Given the description of an element on the screen output the (x, y) to click on. 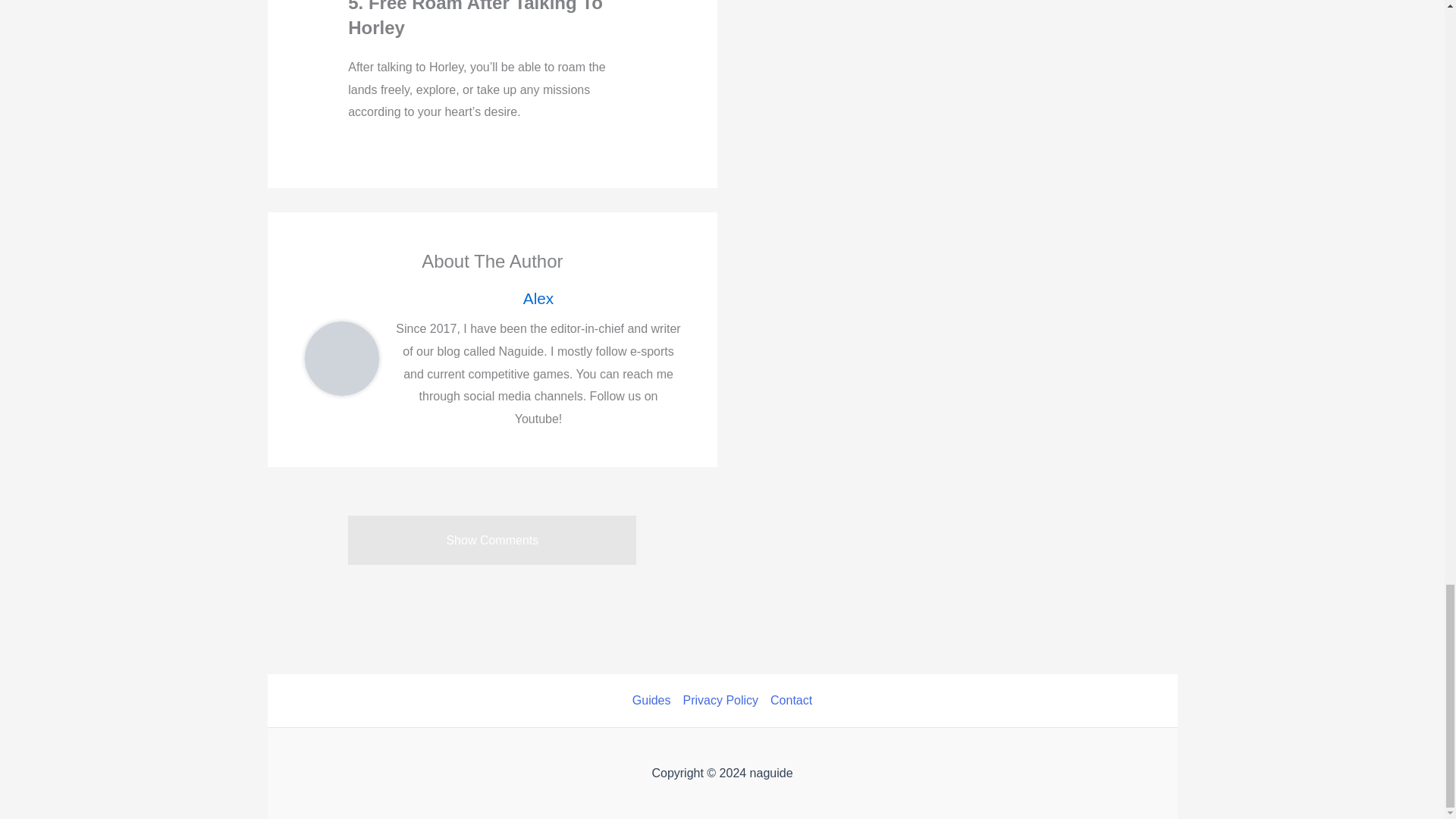
Privacy Policy (720, 700)
Guides (654, 700)
Contact (788, 700)
Alex (538, 298)
